Given the description of an element on the screen output the (x, y) to click on. 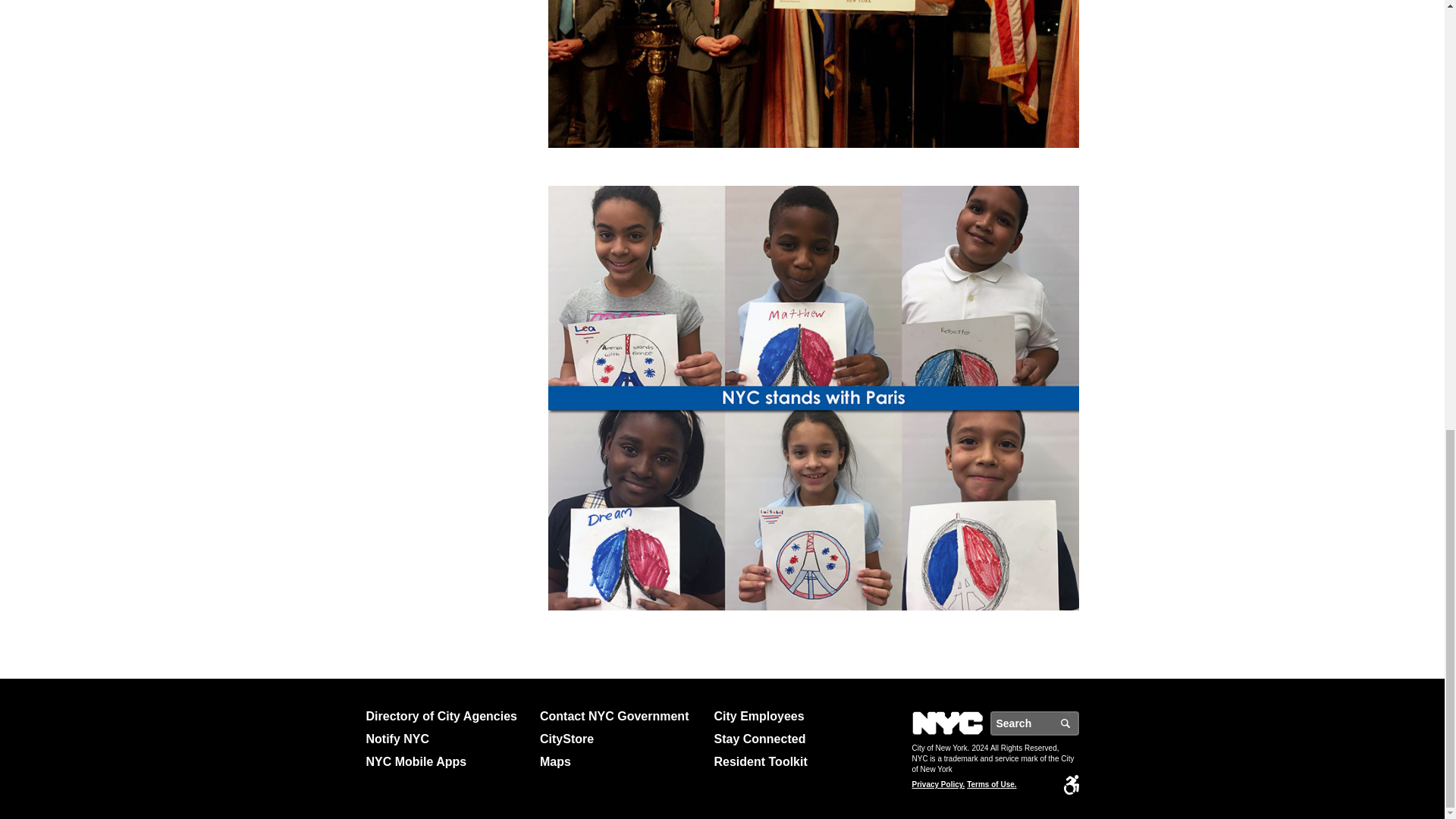
Stay Connected (795, 739)
Privacy Ploicy  (937, 784)
Terms of Use (991, 784)
NYC Mobile Apps (446, 762)
Directory of City Agencies (446, 716)
Resident Toolkit (795, 762)
Maps (620, 762)
Privacy Policy. (937, 784)
CityStore (620, 739)
Notify NYC (446, 739)
Contact NYC Government (620, 716)
City Employees (795, 716)
Terms of Use. (991, 784)
